Given the description of an element on the screen output the (x, y) to click on. 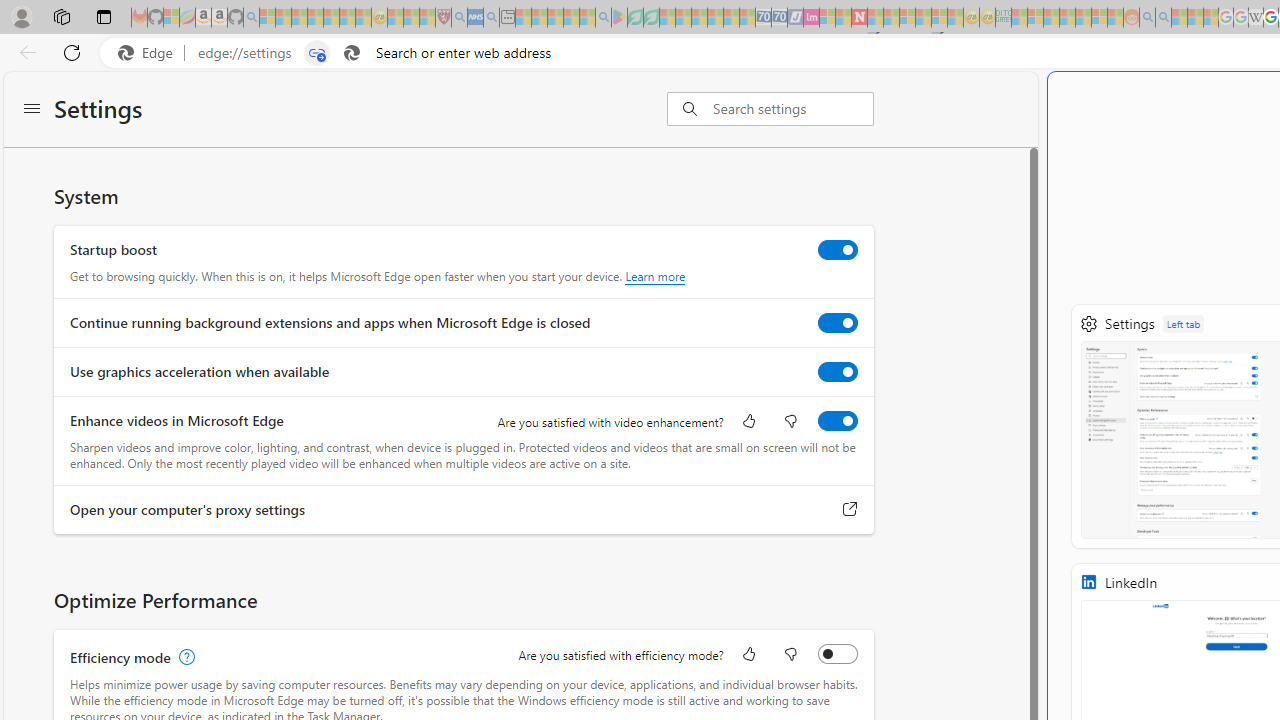
Efficiency mode, learn more (184, 657)
Search settings (791, 109)
Efficiency mode (837, 653)
Enhance videos in Microsoft Edge (837, 421)
Use graphics acceleration when available (837, 372)
